Given the description of an element on the screen output the (x, y) to click on. 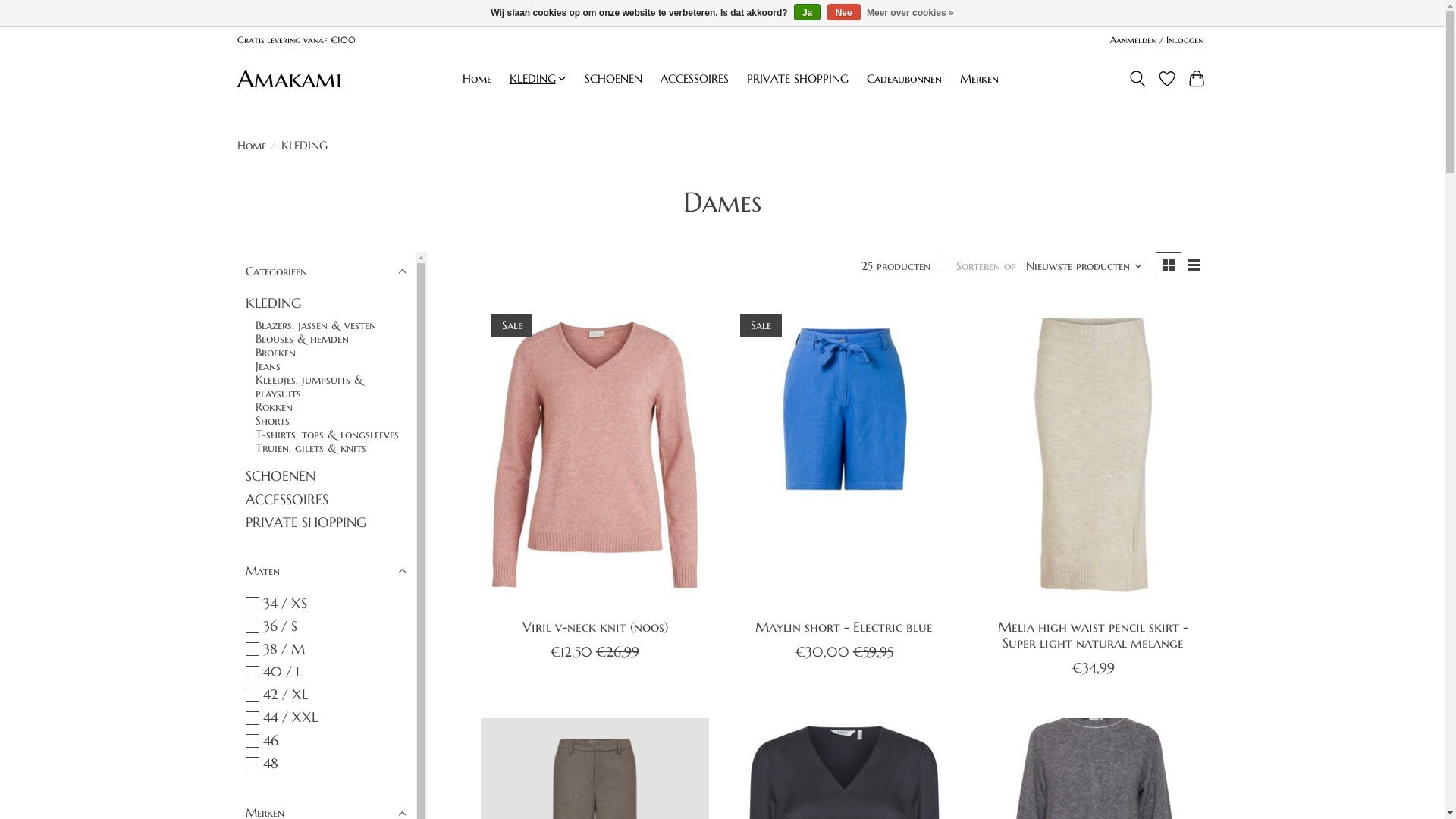
Broeken Element type: text (275, 352)
T-shirts, tops & longsleeves Element type: text (326, 434)
Kleedjes, jumpsuits & playsuits Element type: text (309, 386)
Aanmelden / Inloggen Element type: text (1156, 39)
Home Element type: text (250, 144)
Rokken Element type: text (273, 407)
Ja Element type: text (806, 11)
Blazers, jassen & vesten Element type: text (315, 325)
VILA Viril v-neck knit (noos) Element type: hover (594, 454)
SCHOENEN Element type: text (280, 475)
ACCESSOIRES Element type: text (694, 78)
PRIVATE SHOPPING Element type: text (305, 522)
Jeans Element type: text (267, 366)
Blouses & hemden Element type: text (301, 338)
Shorts Element type: text (272, 420)
Maylin short - Electric blue Element type: text (843, 626)
Viril v-neck knit (noos) Element type: text (595, 626)
KLEDING Element type: text (273, 302)
Maten Element type: text (325, 570)
Amakami Element type: text (288, 78)
Home Element type: text (475, 78)
ACCESSOIRES Element type: text (286, 499)
Melia high waist pencil skirt - Super light natural melange Element type: text (1092, 634)
PRIVATE SHOPPING Element type: text (797, 78)
SCHOENEN Element type: text (613, 78)
KLEDING Element type: text (537, 78)
Merken Element type: text (979, 78)
Nieuwste producten Element type: text (1084, 266)
Truien, gilets & knits Element type: text (310, 448)
YEST Maylin short - Electric blue Element type: hover (844, 454)
Nee Element type: text (843, 11)
Cadeaubonnen Element type: text (904, 78)
